Given the description of an element on the screen output the (x, y) to click on. 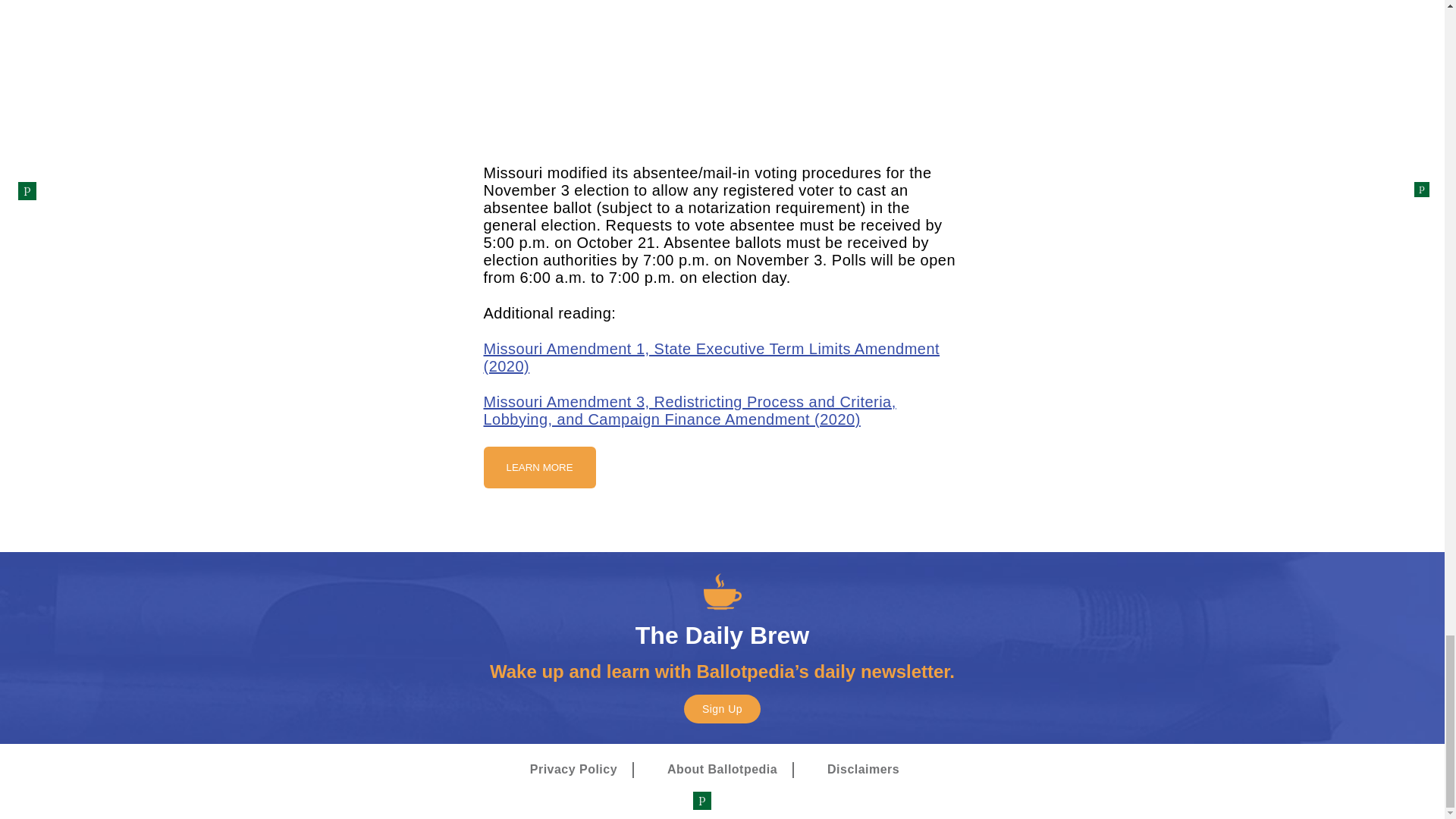
Sign Up (722, 708)
Privacy Policy (573, 770)
About Ballotpedia (721, 770)
LEARN MORE (539, 466)
LEARN MORE (539, 467)
3rd party ad content (721, 69)
Disclaimers (863, 770)
